Given the description of an element on the screen output the (x, y) to click on. 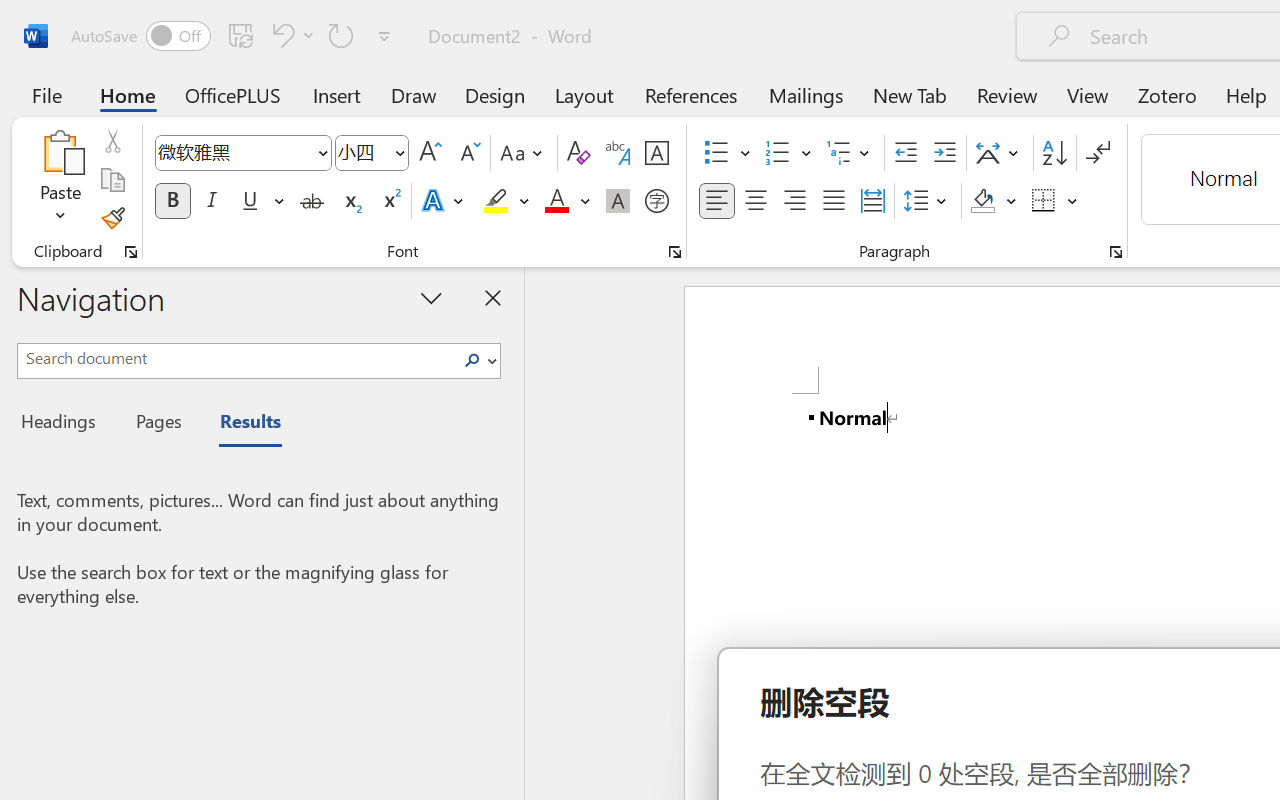
Character Shading (618, 201)
Draw (413, 94)
Search (471, 360)
Shading RGB(0, 0, 0) (982, 201)
Change Case (524, 153)
Class: NetUIImage (471, 360)
Font Color (567, 201)
Center (756, 201)
Layout (584, 94)
Text Highlight Color (506, 201)
